Given the description of an element on the screen output the (x, y) to click on. 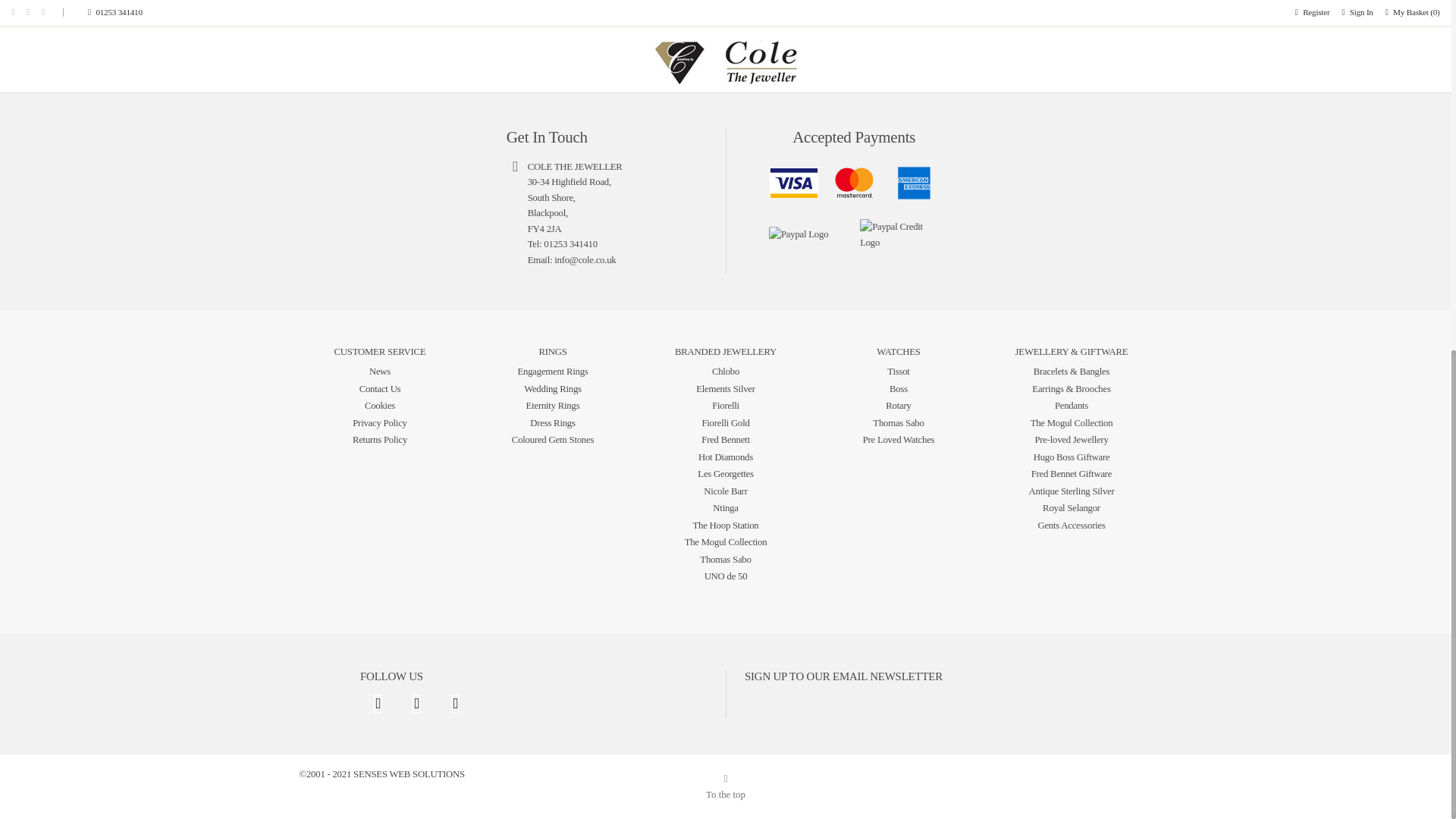
Chlobo (725, 371)
Contact Us (380, 388)
Wedding Rings (552, 388)
Fred Bennett (725, 439)
Fiorelli Gold (725, 422)
Hot Diamonds (725, 457)
Elements Silver (725, 388)
Ntinga (725, 507)
Nicole Barr (724, 491)
Returns Policy (379, 439)
